Given the description of an element on the screen output the (x, y) to click on. 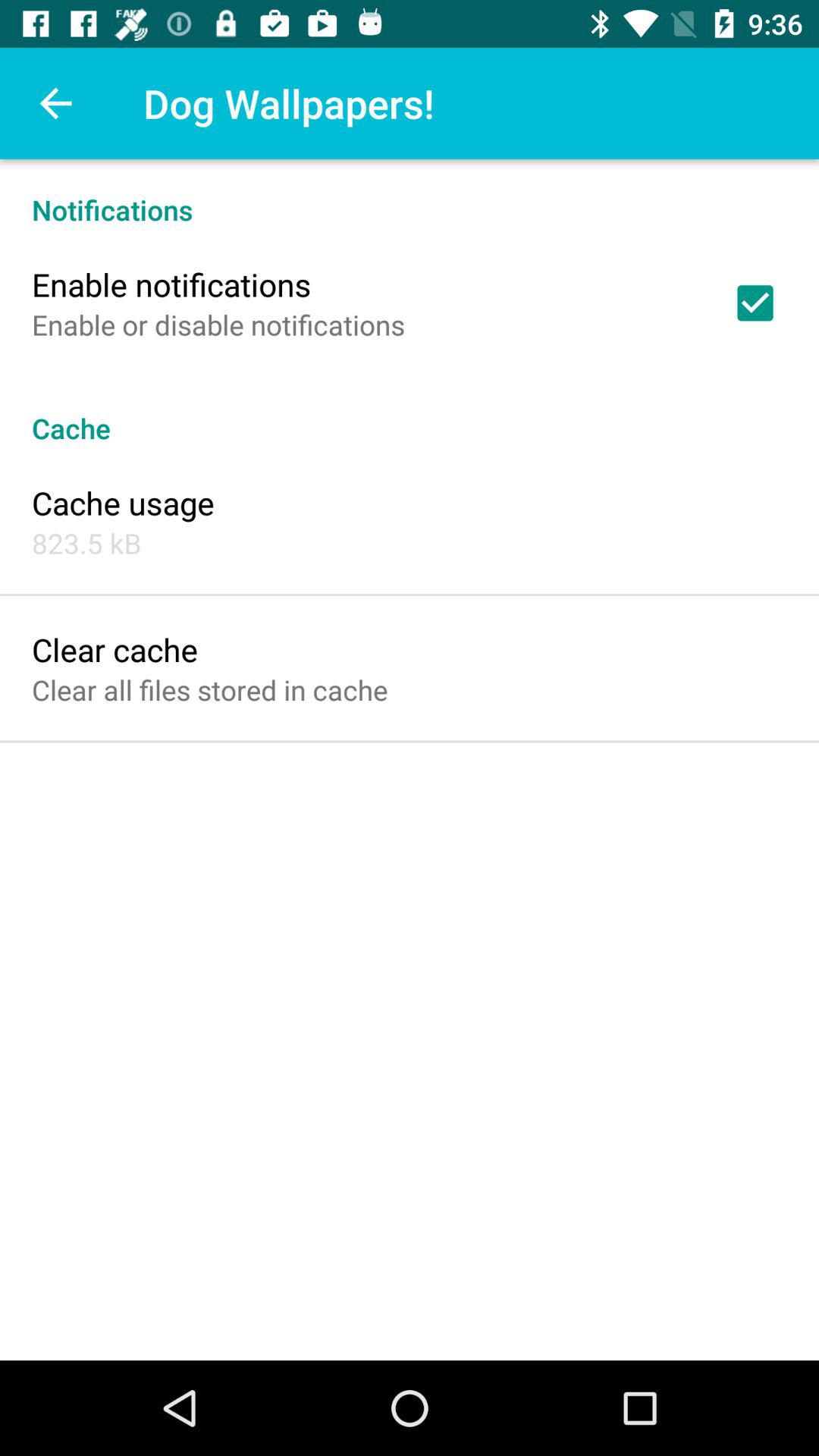
click on check box (755, 302)
